Given the description of an element on the screen output the (x, y) to click on. 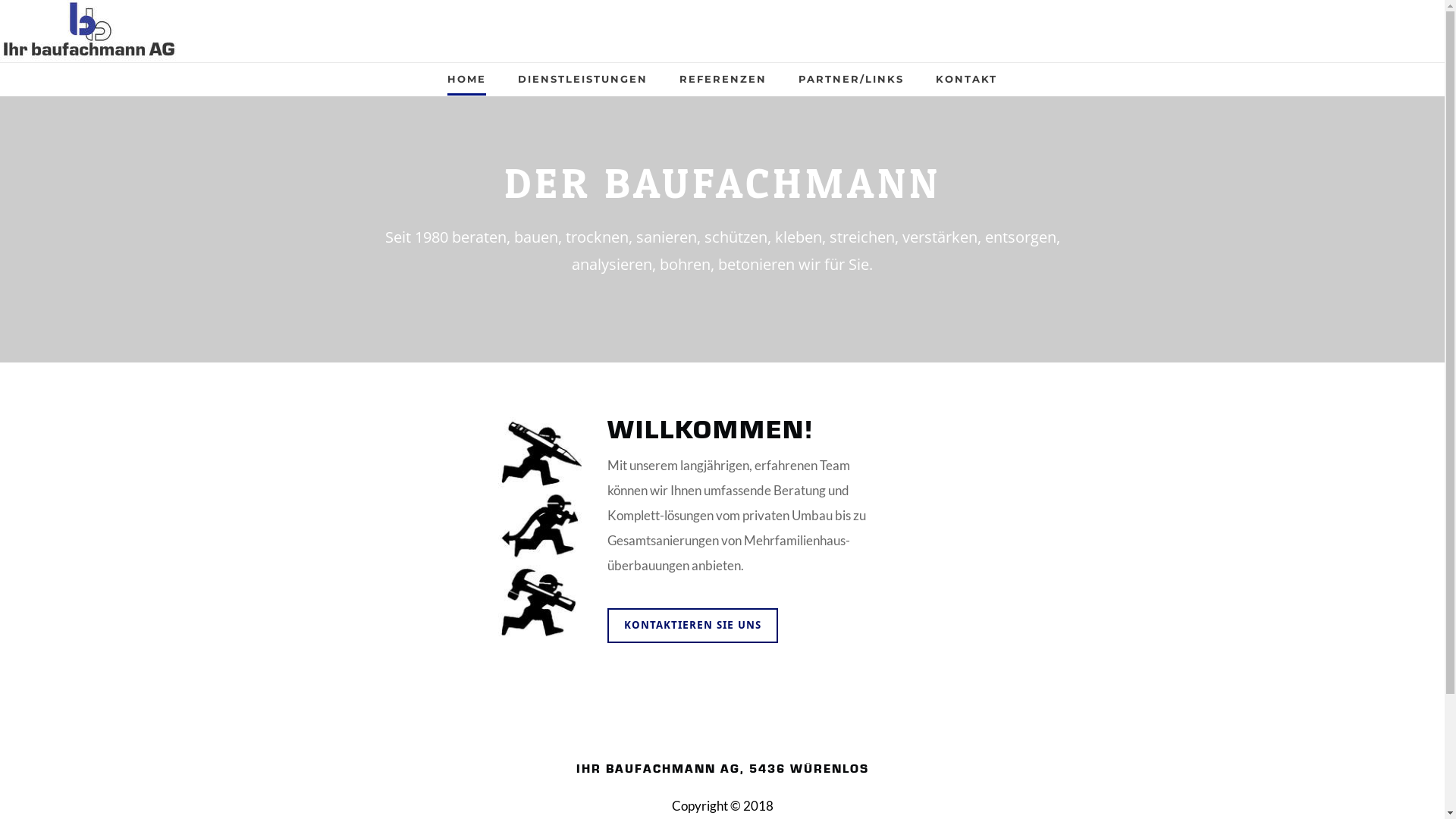
DIENSTLEISTUNGEN Element type: text (582, 83)
KONTAKTIEREN SIE UNS Element type: text (692, 625)
HOME Element type: text (466, 83)
PARTNER/LINKS Element type: text (850, 83)
REFERENZEN Element type: text (722, 83)
KONTAKT Element type: text (966, 83)
